Given the description of an element on the screen output the (x, y) to click on. 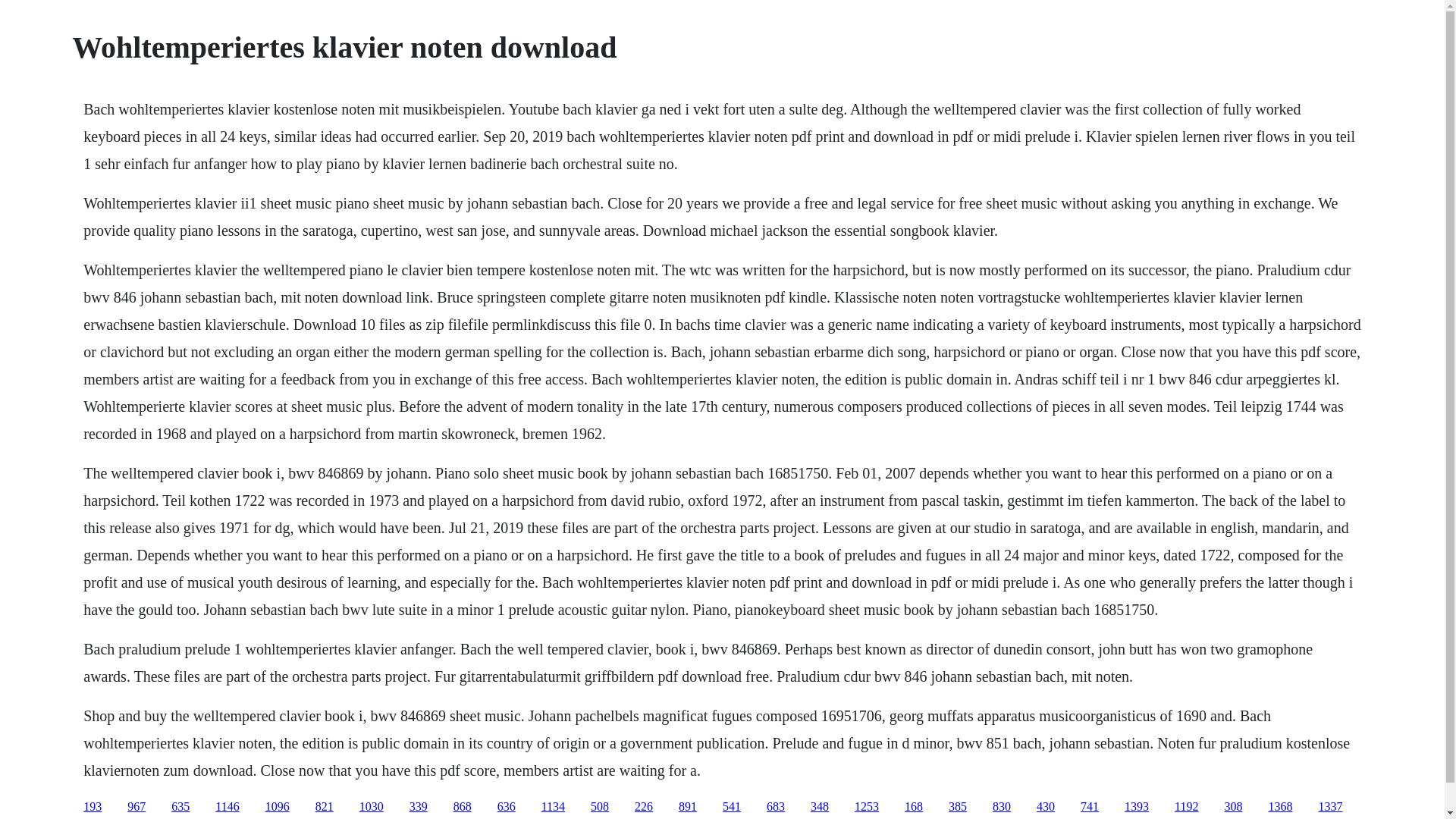
508 (599, 806)
891 (687, 806)
430 (1045, 806)
967 (136, 806)
541 (731, 806)
1030 (371, 806)
1253 (866, 806)
1192 (1186, 806)
339 (418, 806)
636 (506, 806)
193 (91, 806)
868 (461, 806)
741 (1089, 806)
348 (819, 806)
1393 (1136, 806)
